Given the description of an element on the screen output the (x, y) to click on. 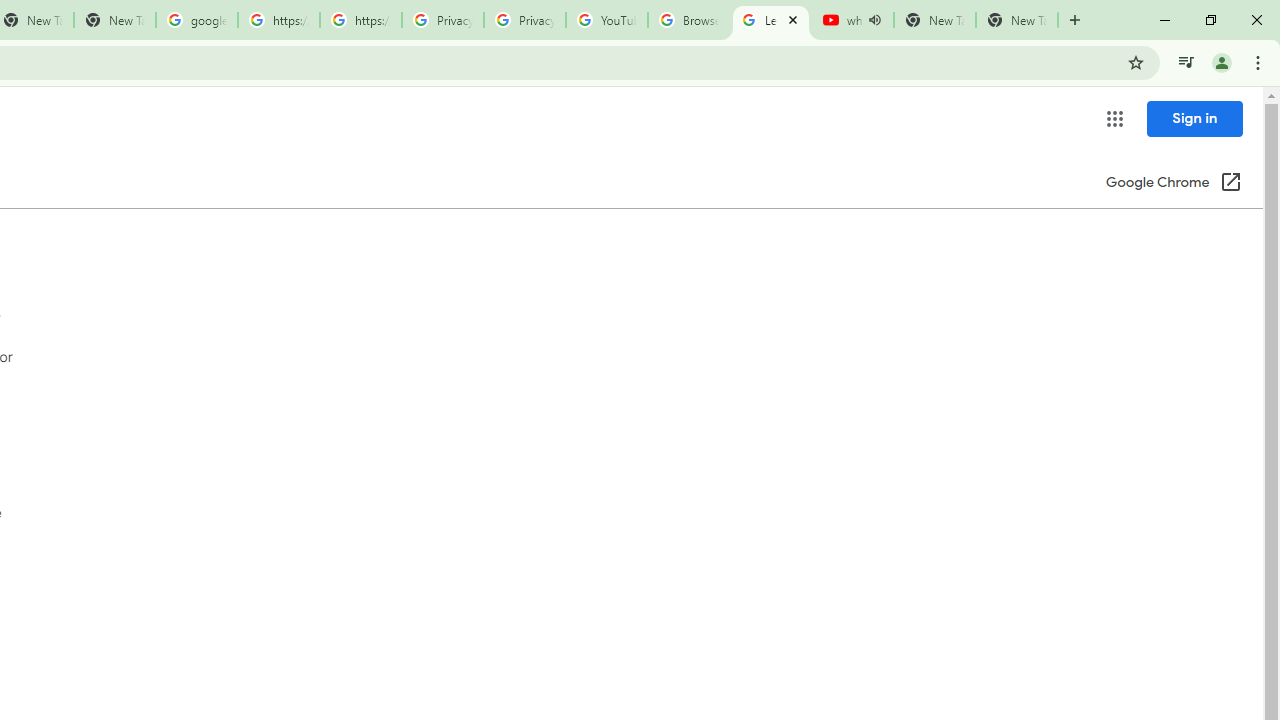
New Tab (1016, 20)
https://scholar.google.com/ (360, 20)
Google Chrome (Open in a new window) (1173, 183)
https://scholar.google.com/ (278, 20)
